Given the description of an element on the screen output the (x, y) to click on. 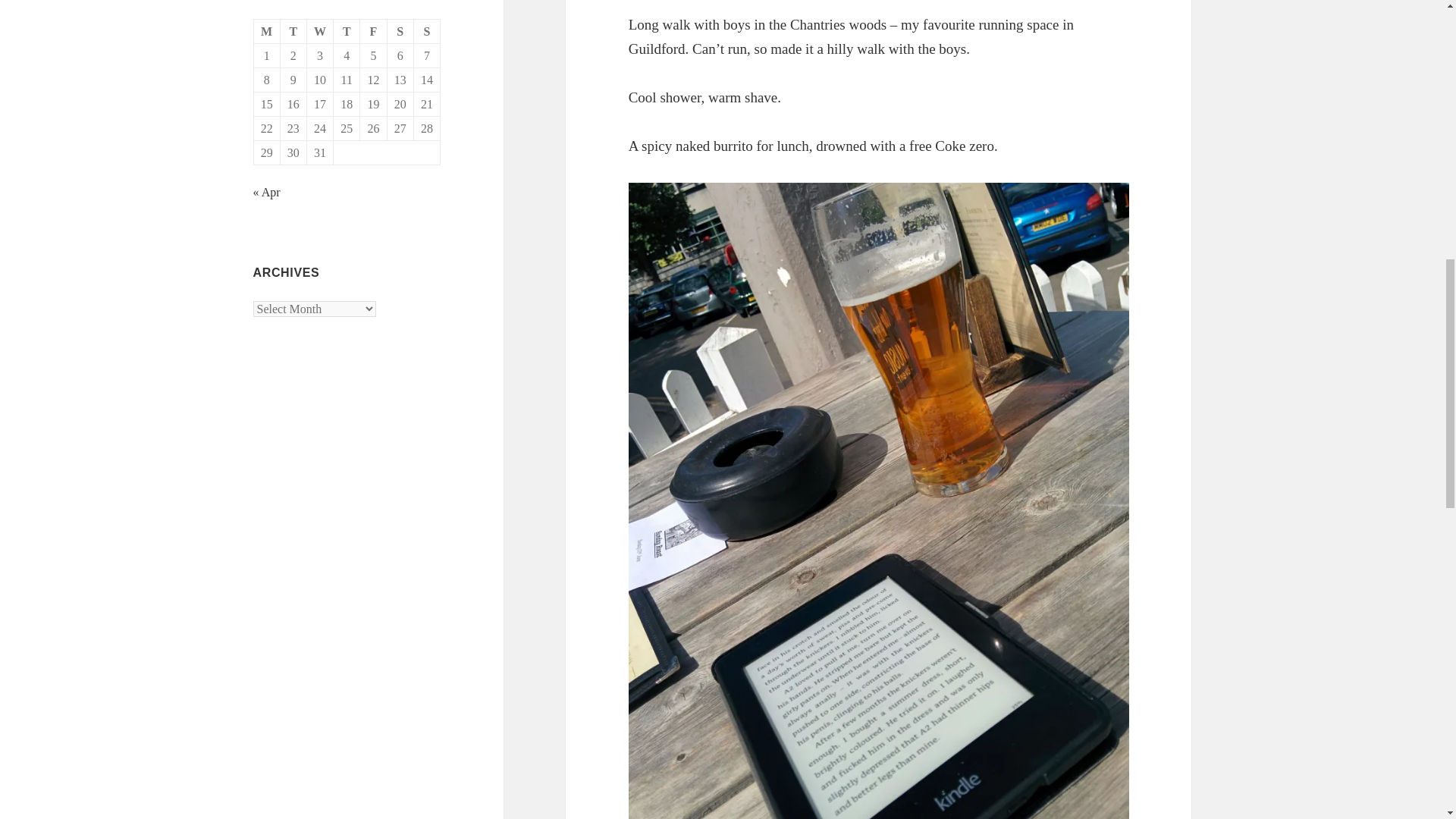
Saturday (400, 31)
Wednesday (320, 31)
Friday (373, 31)
Tuesday (294, 31)
Monday (267, 31)
Sunday (427, 31)
Thursday (346, 31)
